Given the description of an element on the screen output the (x, y) to click on. 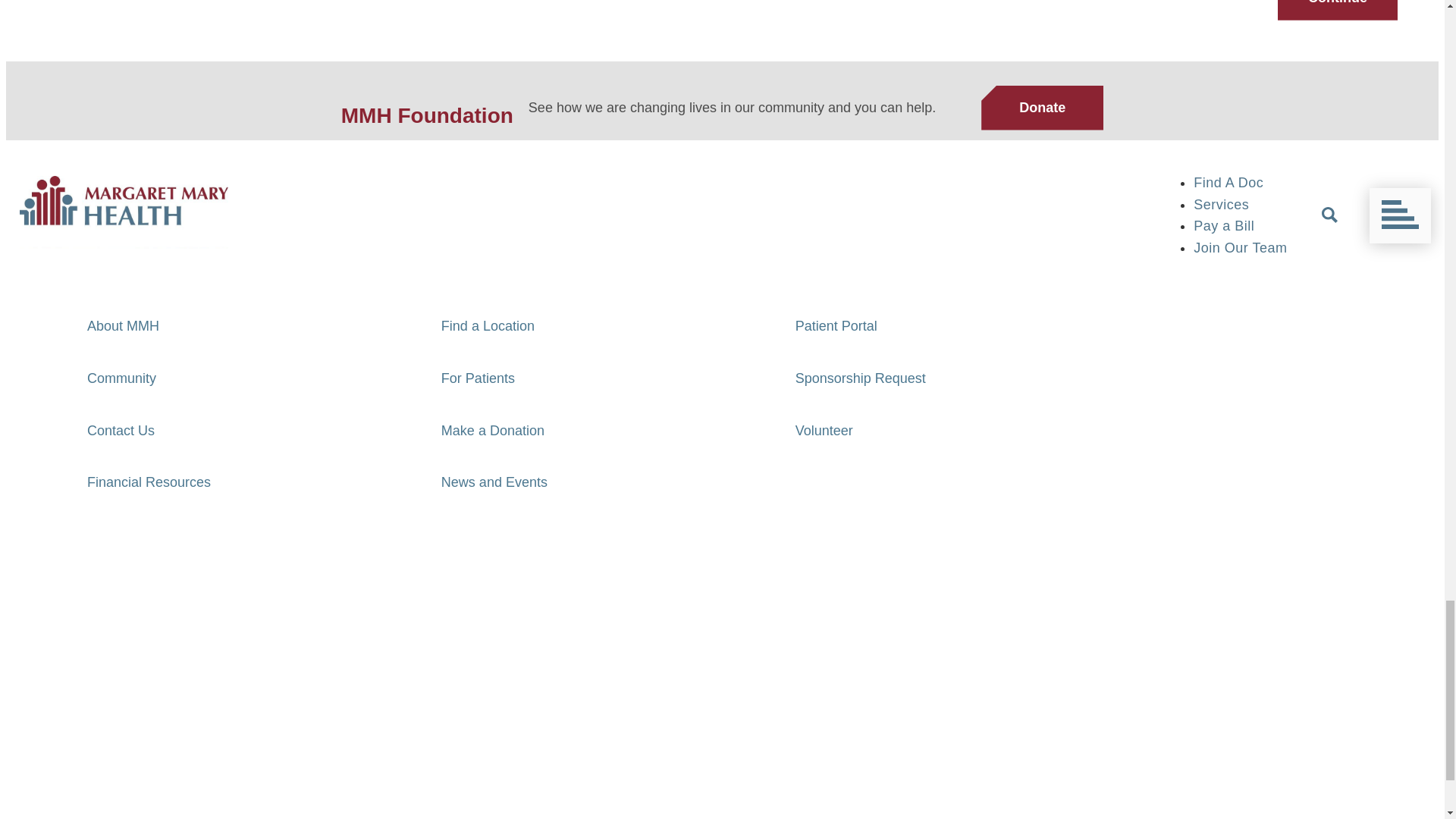
Pay a Bill (416, 308)
Find a Doctor (427, 277)
Donate (1042, 107)
Continue (1337, 10)
